Given the description of an element on the screen output the (x, y) to click on. 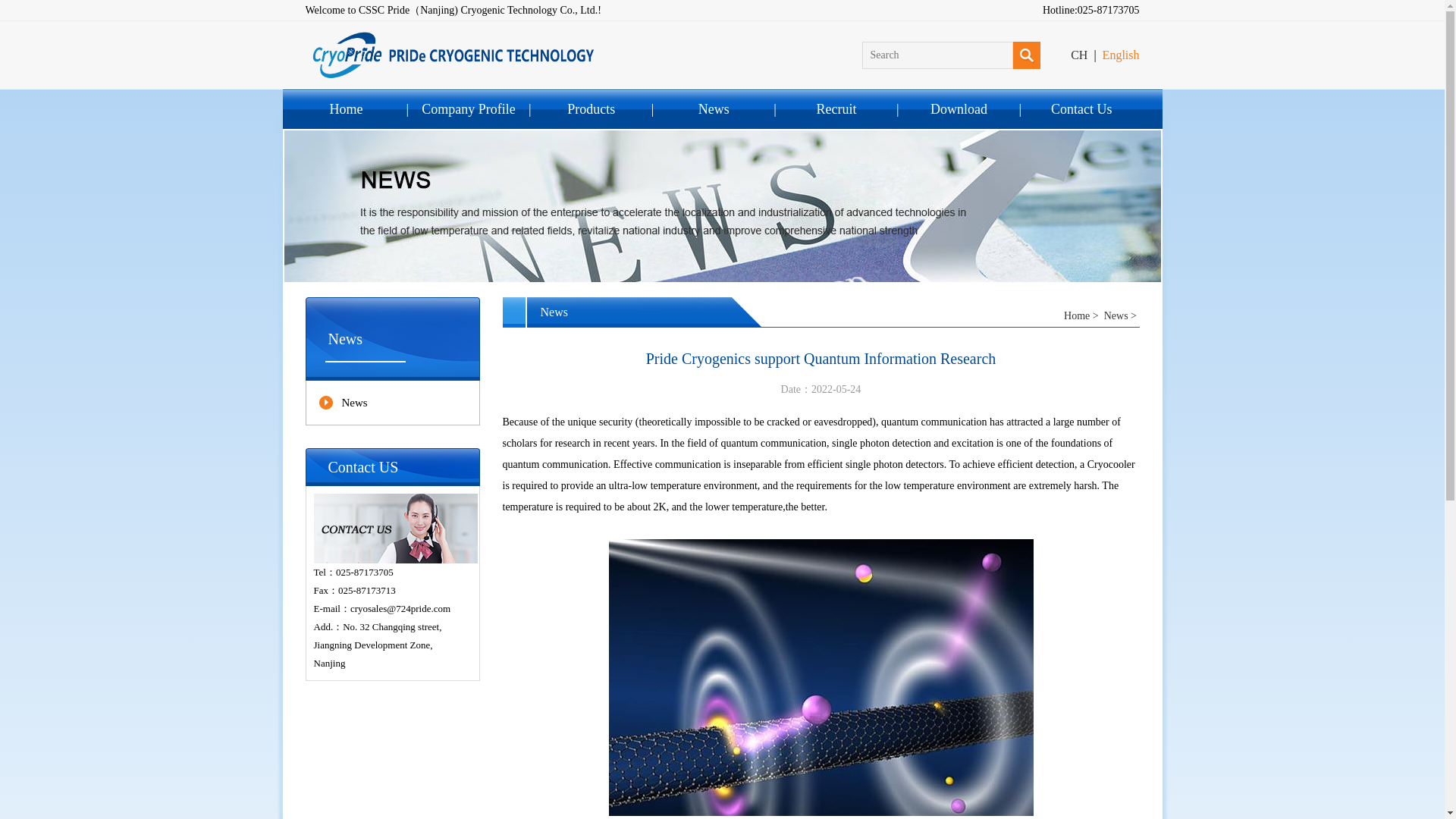
News (392, 402)
Contact Us (1081, 108)
CH (1078, 54)
Home (1076, 315)
News (713, 108)
Products (590, 108)
News (1115, 315)
Download (959, 108)
Recruit (836, 108)
English (1121, 54)
